Given the description of an element on the screen output the (x, y) to click on. 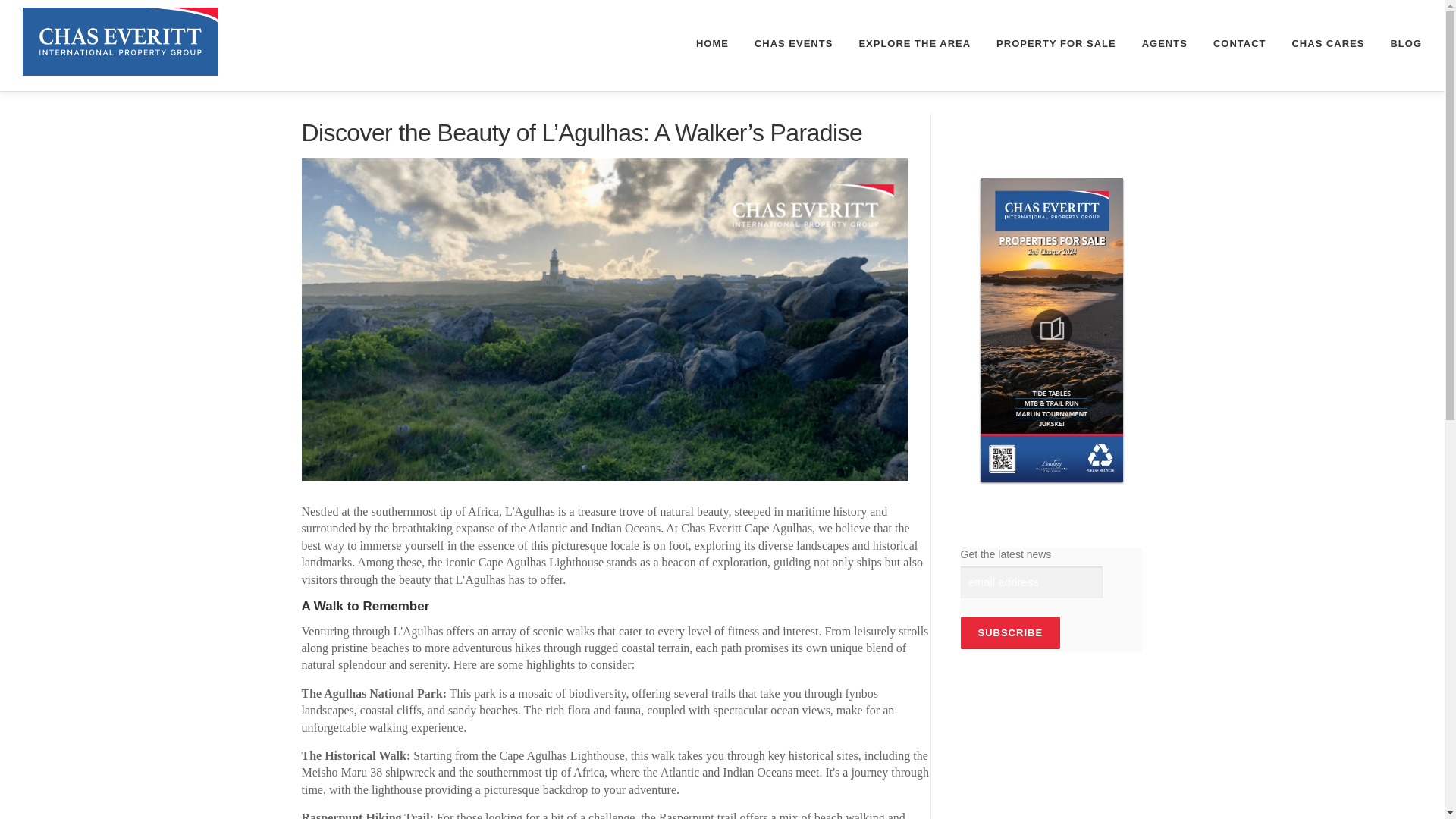
Subscribe (1009, 632)
CHAS CARES (1327, 43)
CHAS EVENTS (793, 43)
HOME (711, 43)
EXPLORE THE AREA (914, 43)
Subscribe (1009, 632)
CONTACT (1239, 43)
AGENTS (1164, 43)
PROPERTY FOR SALE (1056, 43)
